Given the description of an element on the screen output the (x, y) to click on. 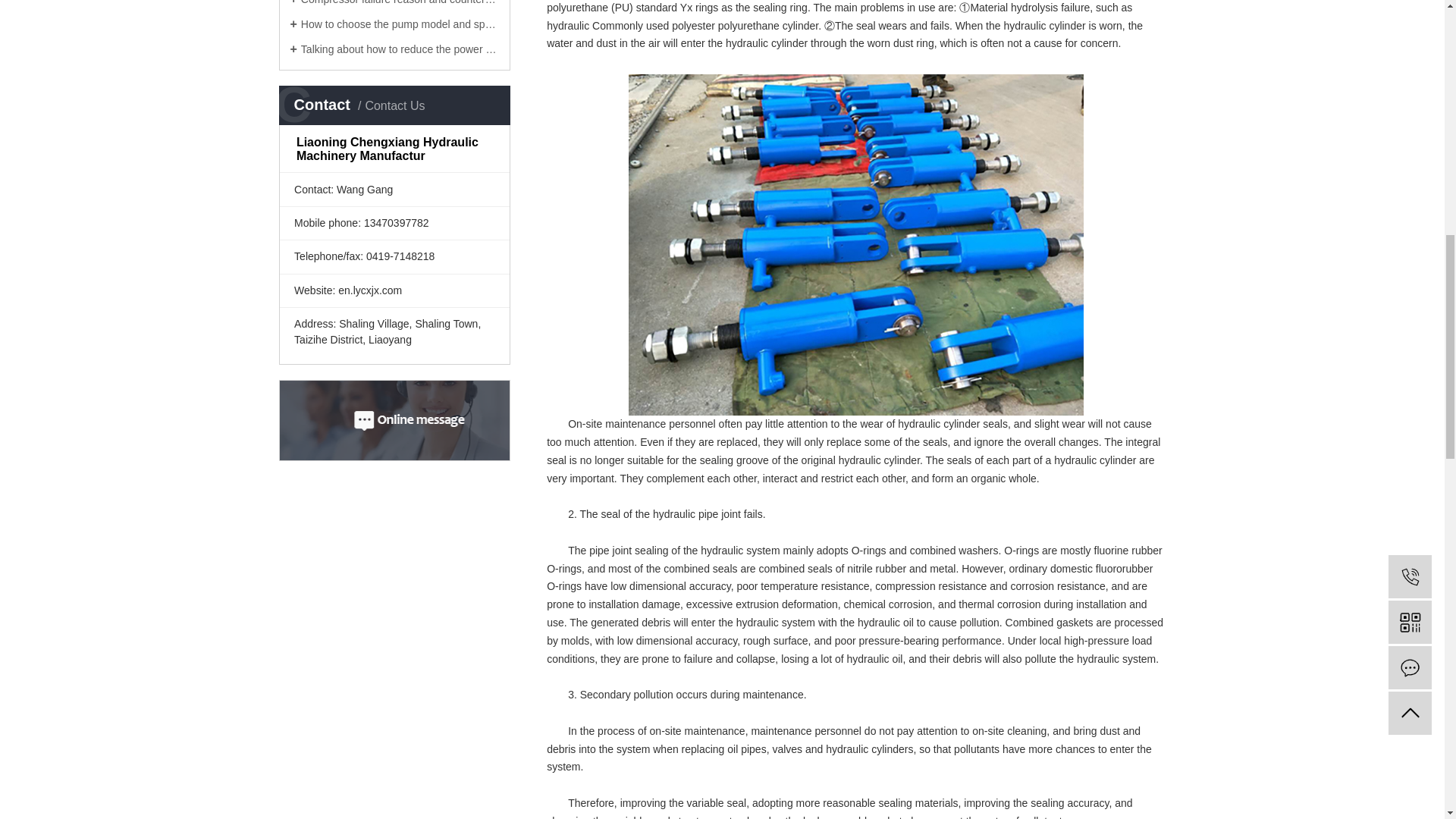
Compressor failure reason and countermeasure analysis (393, 2)
How to choose the pump model and specification (393, 23)
